Given the description of an element on the screen output the (x, y) to click on. 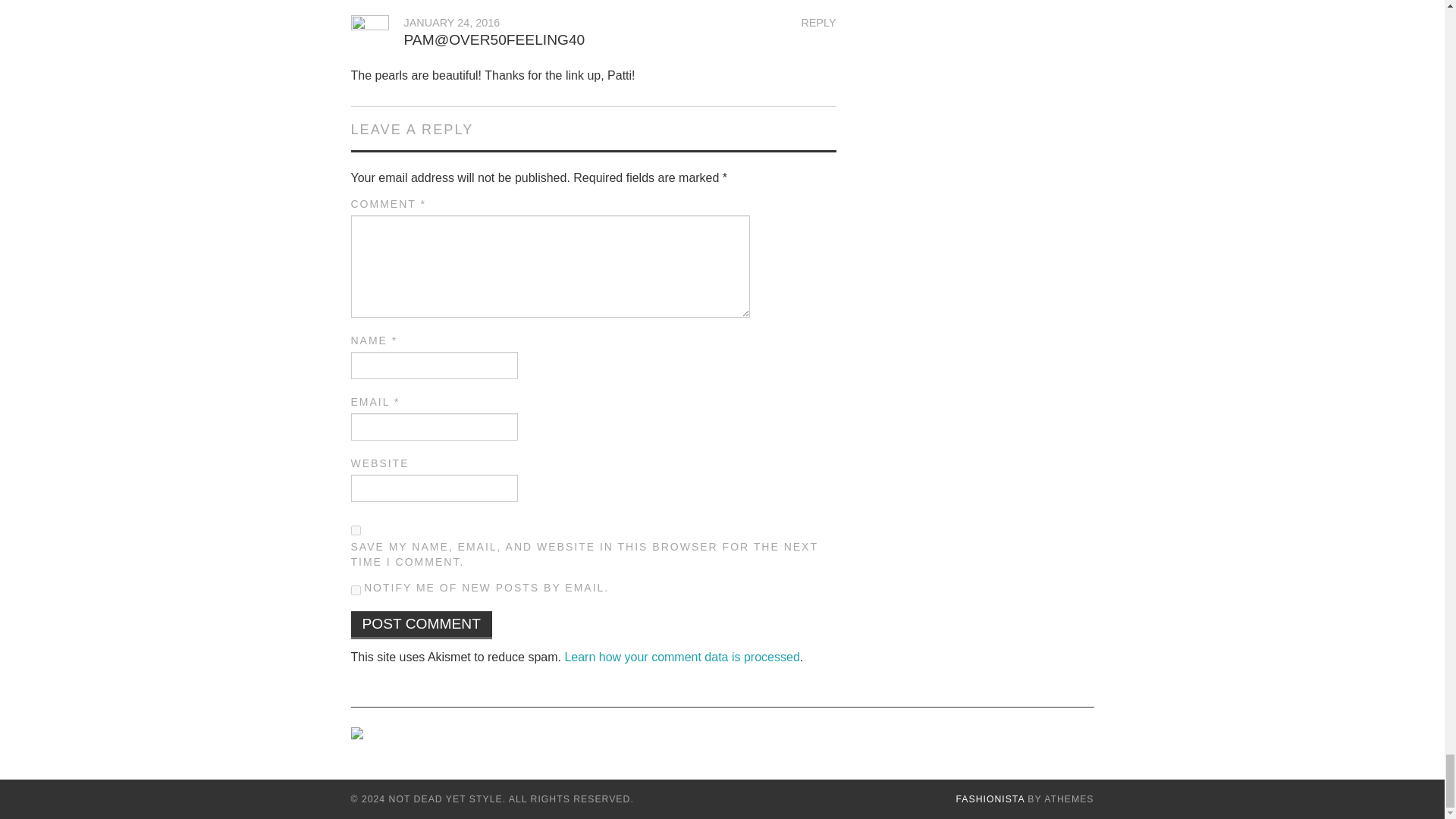
Post Comment (421, 624)
subscribe (354, 590)
yes (354, 530)
